Given the description of an element on the screen output the (x, y) to click on. 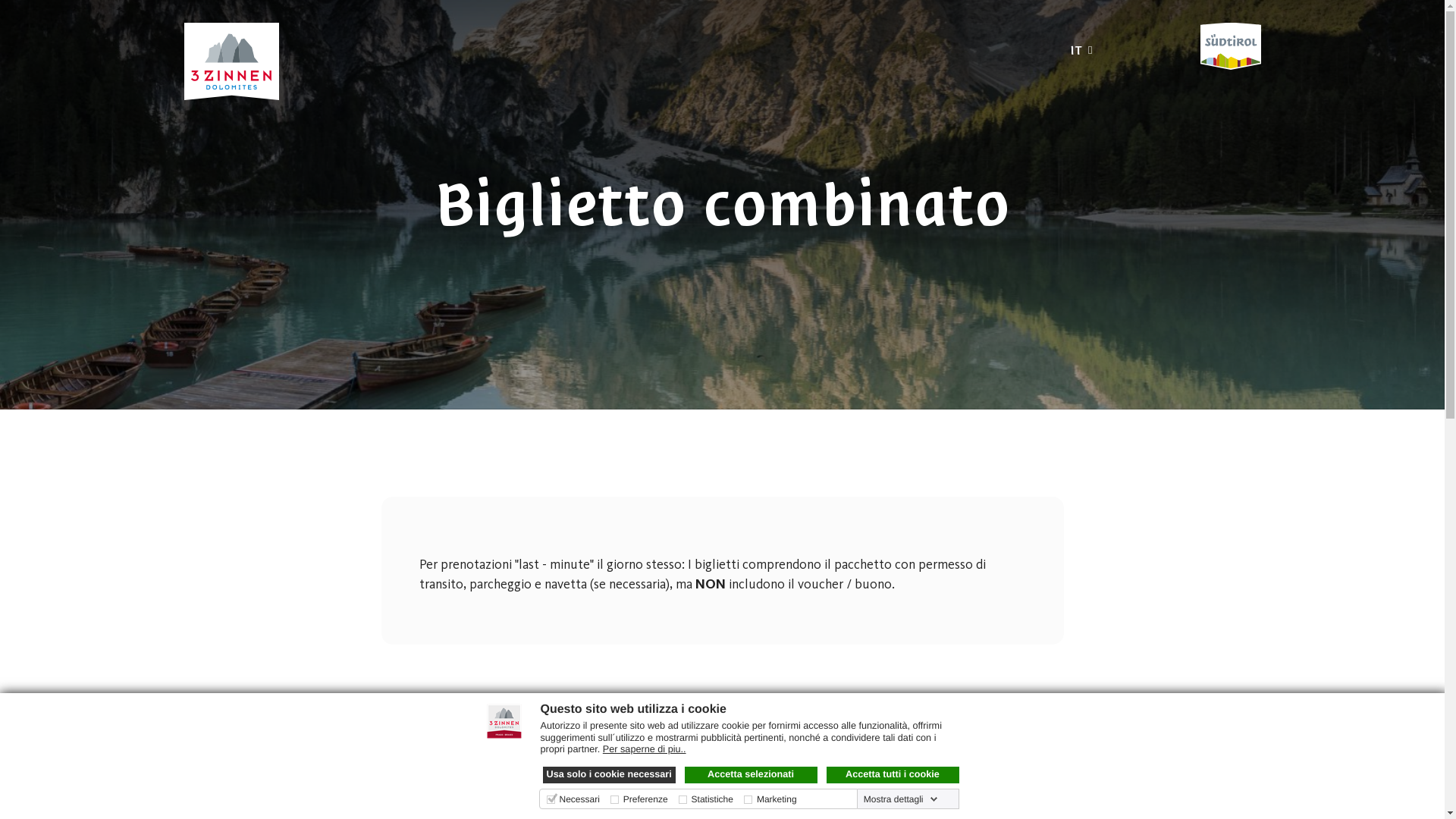
Per saperne di piu.. Element type: text (644, 748)
Accetta selezionati Element type: text (750, 774)
Usa solo i cookie necessari Element type: text (608, 774)
IT Element type: text (1081, 50)
Mostra dettagli Element type: text (900, 799)
Accetta tutti i cookie Element type: text (892, 774)
